Given the description of an element on the screen output the (x, y) to click on. 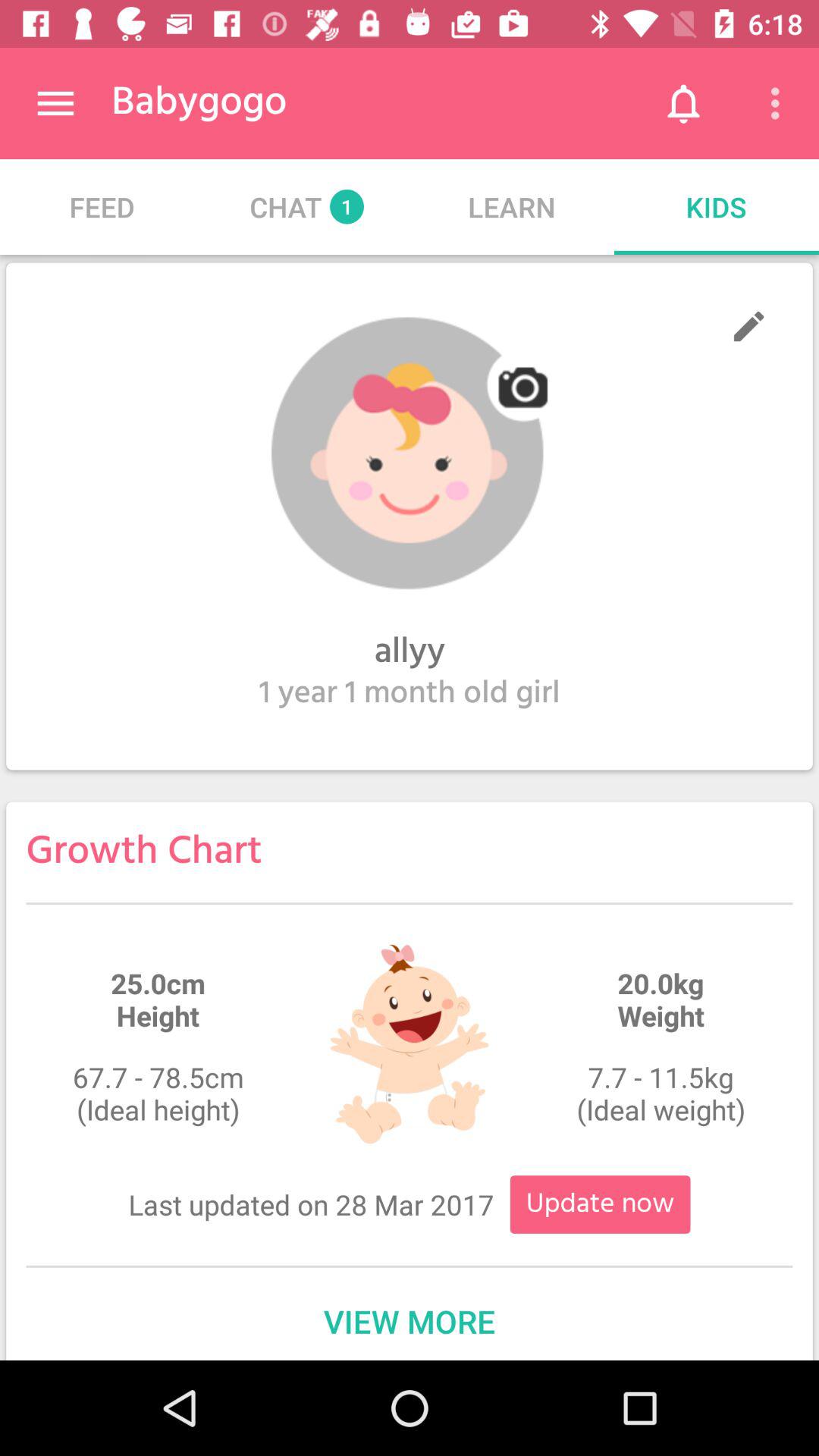
edit (748, 326)
